Given the description of an element on the screen output the (x, y) to click on. 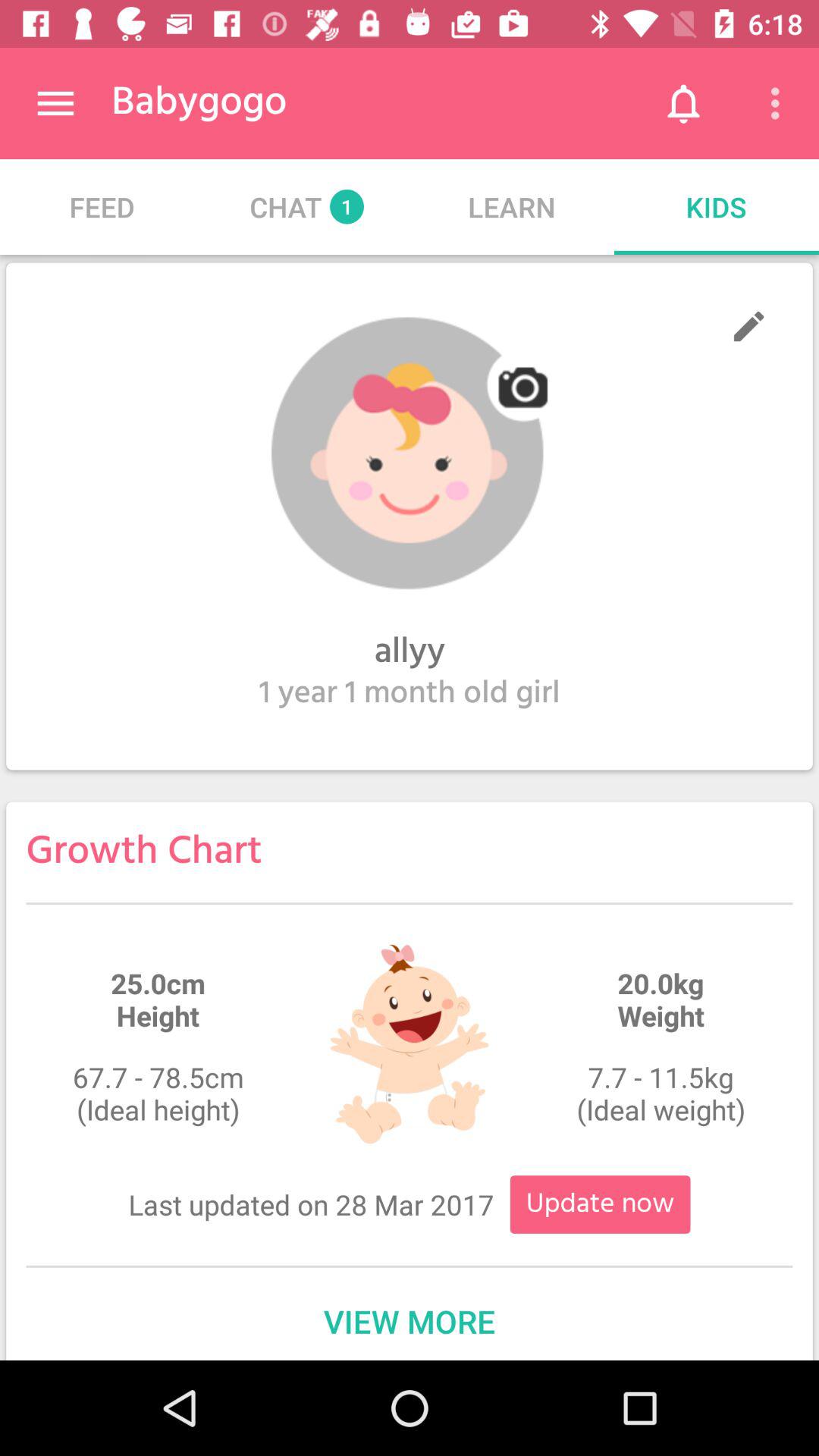
edit (748, 326)
